Given the description of an element on the screen output the (x, y) to click on. 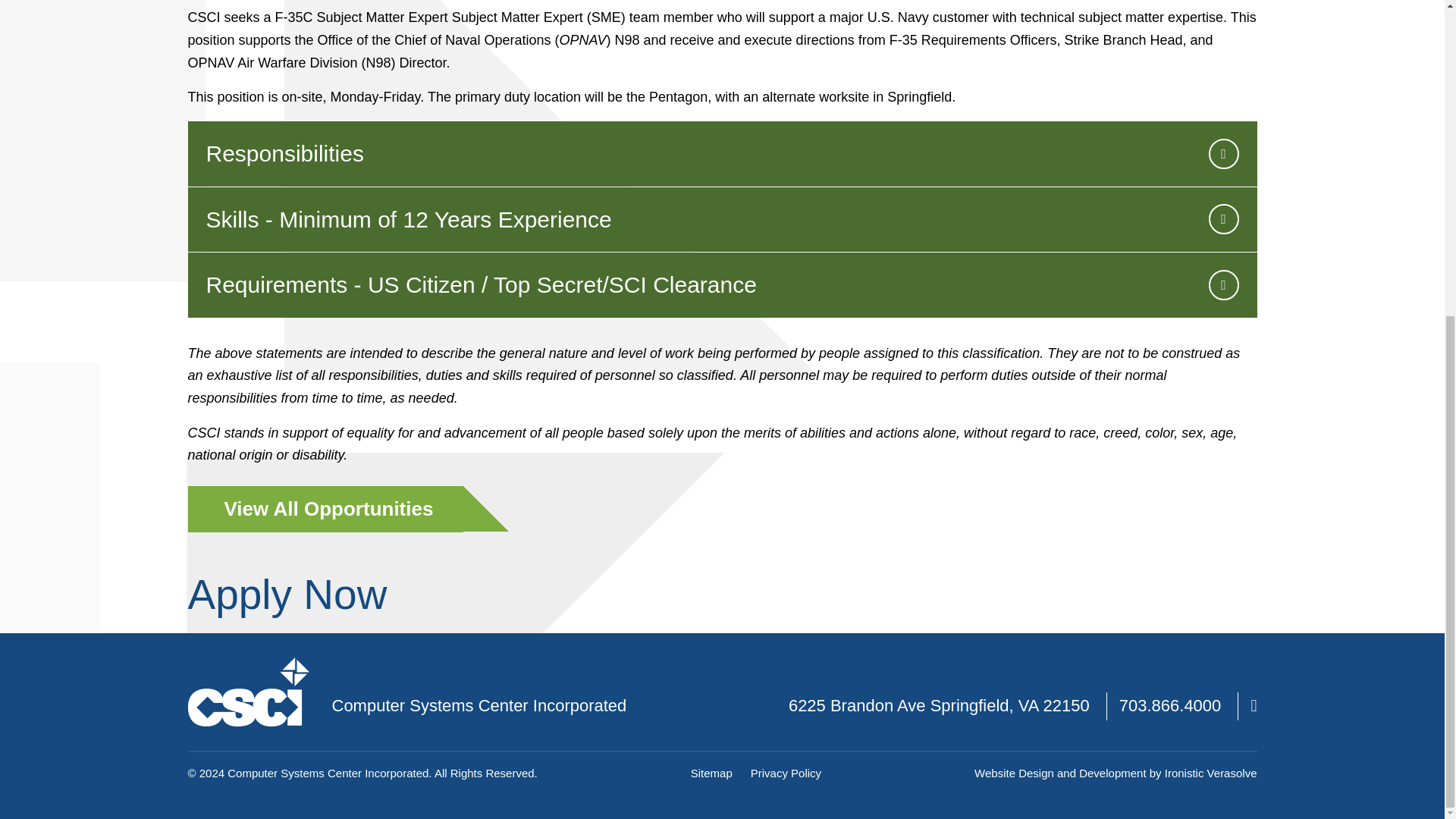
Sitemap (711, 772)
Website Design and Development by Ironistic (1089, 772)
Verasolve (1232, 772)
703.866.4000 (1170, 705)
6225 Brandon Ave Springfield, VA 22150 (939, 705)
Privacy Policy (786, 772)
View All Opportunities (325, 509)
